Given the description of an element on the screen output the (x, y) to click on. 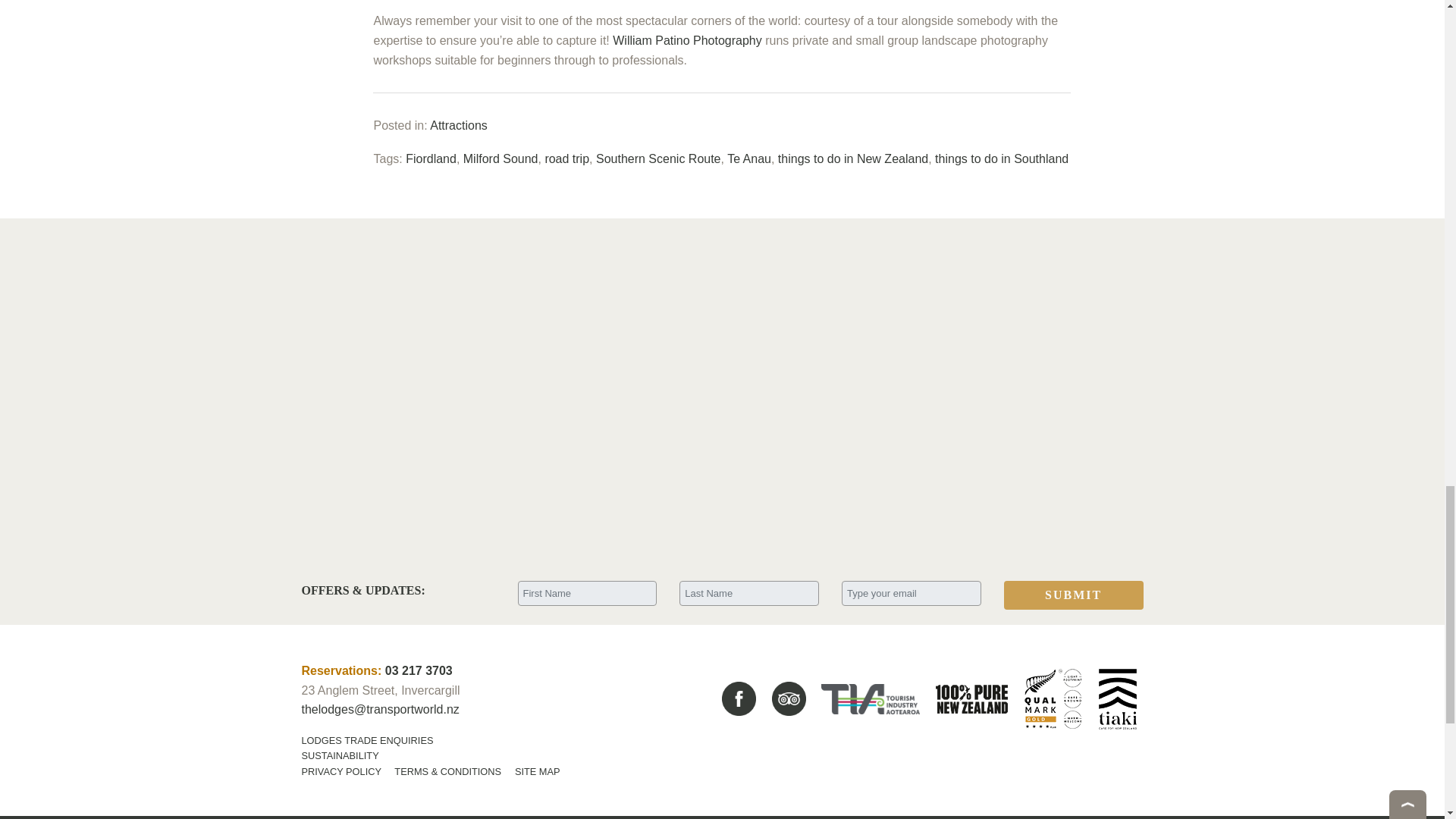
Southern Scenic Route (657, 158)
LODGES TRADE ENQUIRIES (367, 740)
things to do in New Zealand (852, 158)
Milford Sound (500, 158)
03 217 3703 (418, 670)
PRIVACY POLICY (341, 771)
road trip (566, 158)
things to do in Southland (1001, 158)
SUBMIT (1073, 594)
Attractions (458, 124)
